Given the description of an element on the screen output the (x, y) to click on. 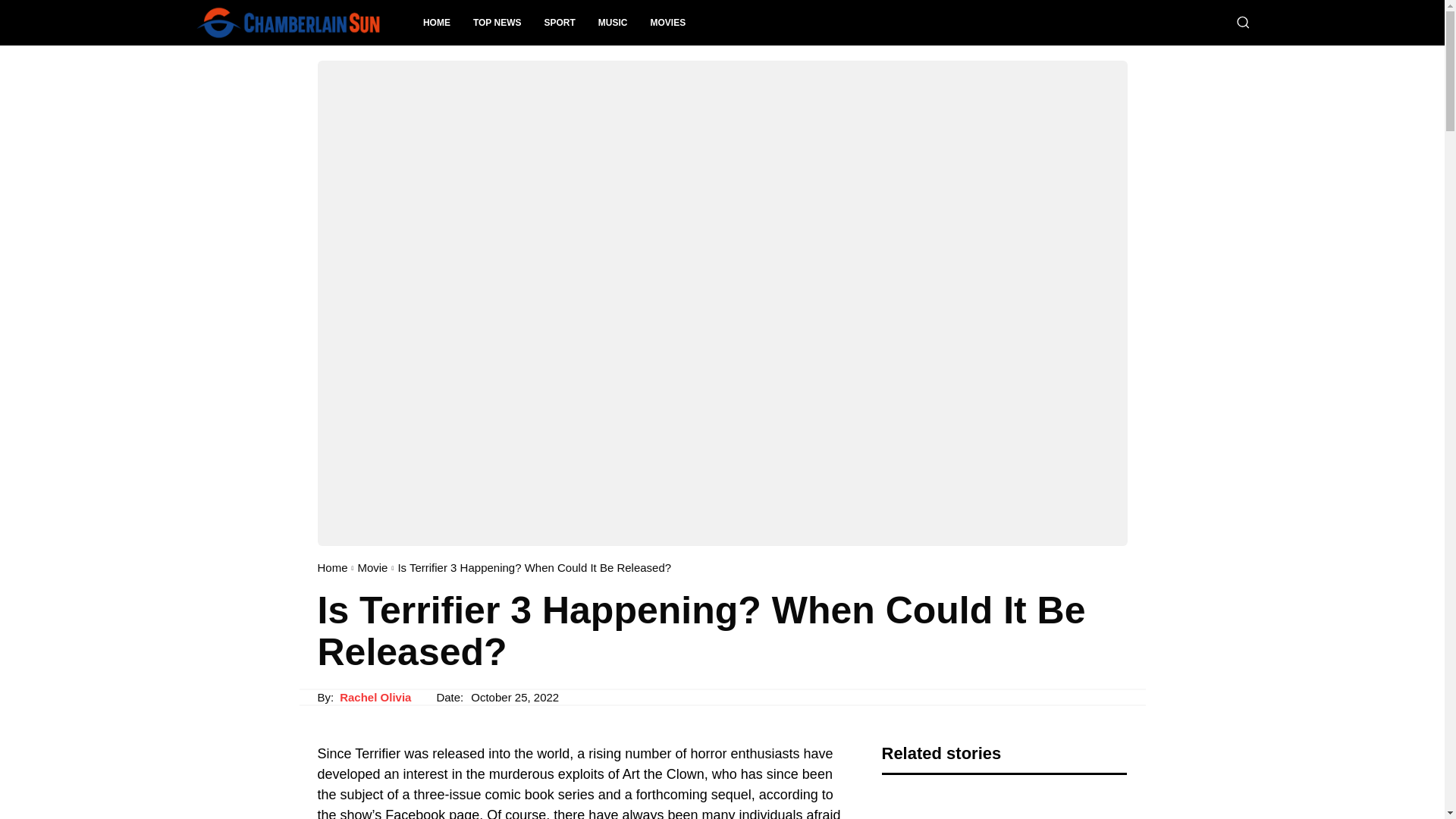
TOP NEWS (496, 22)
Movie (371, 567)
MOVIES (668, 22)
Rachel Olivia (374, 697)
View all posts in Movie (371, 567)
MUSIC (612, 22)
Home (332, 567)
HOME (436, 22)
SPORT (559, 22)
